Given the description of an element on the screen output the (x, y) to click on. 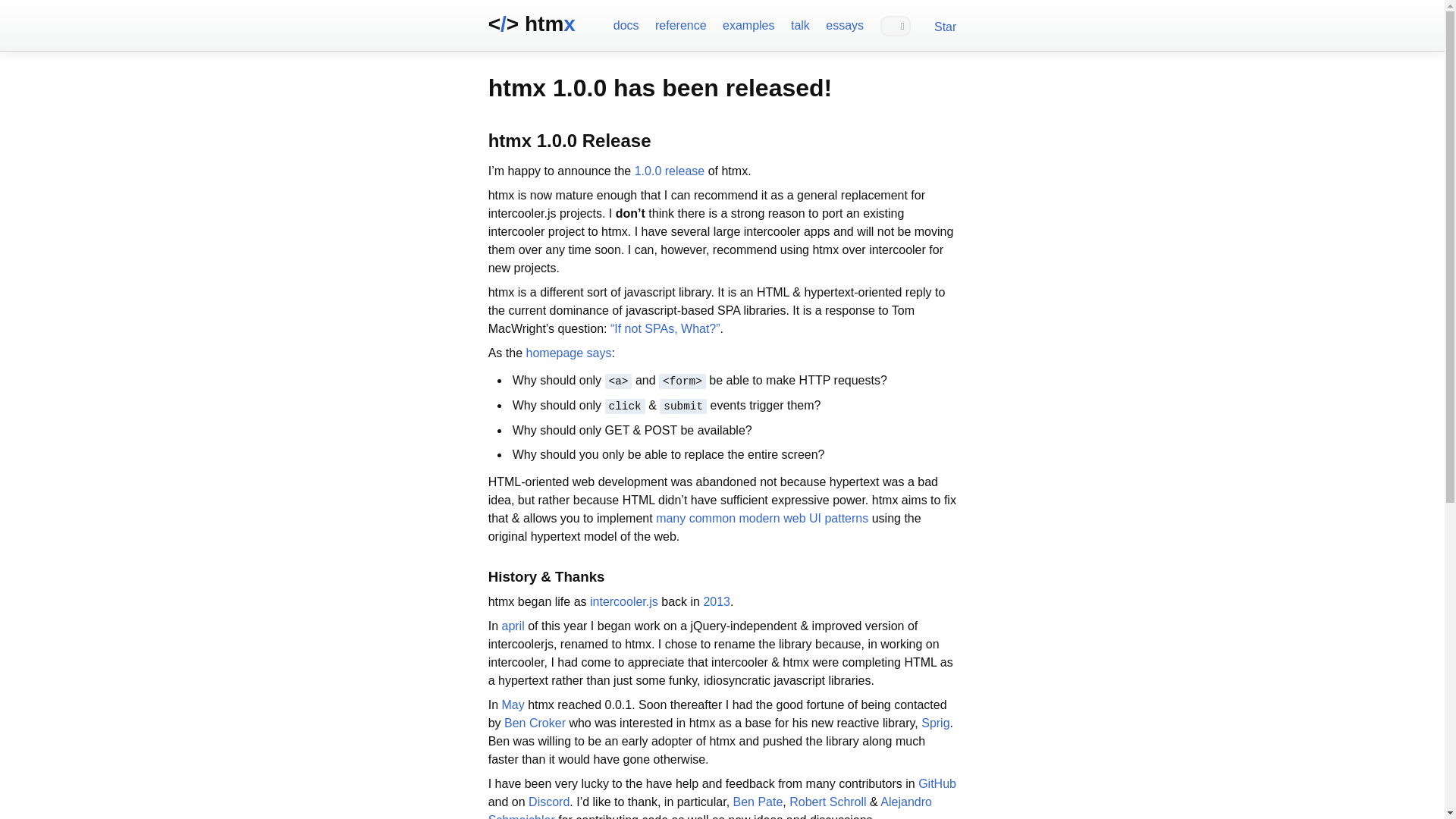
many common modern web UI patterns (761, 517)
docs (625, 24)
essays (844, 24)
2013 (716, 601)
Ben Pate (758, 801)
May (512, 704)
talk (799, 24)
Alejandro Schmeichler (709, 807)
intercooler.js (623, 601)
Star (945, 26)
Sprig (935, 722)
homepage says (568, 352)
Robert Schroll (827, 801)
april (512, 625)
1.0.0 release (669, 170)
